Given the description of an element on the screen output the (x, y) to click on. 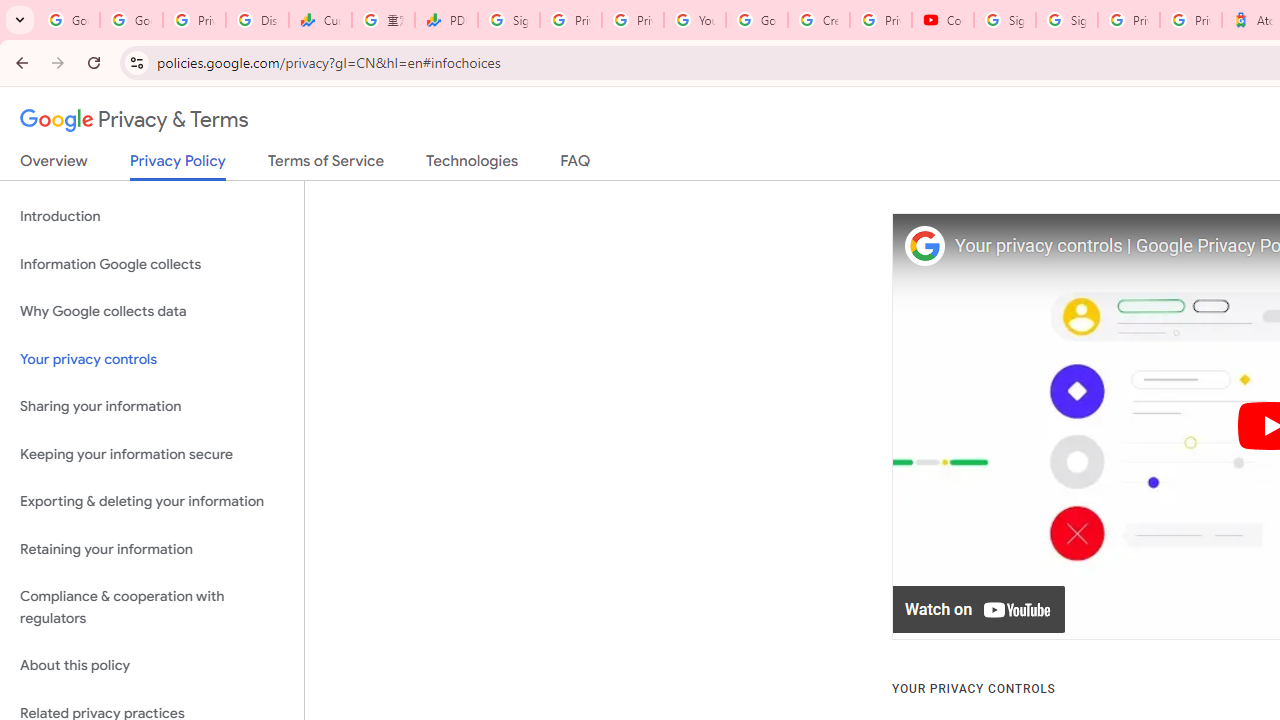
Sharing your information (152, 407)
Create your Google Account (818, 20)
Sign in - Google Accounts (508, 20)
Sign in - Google Accounts (1004, 20)
Photo image of Google (924, 246)
Google Workspace Admin Community (68, 20)
Sign in - Google Accounts (1066, 20)
Information Google collects (152, 263)
